Given the description of an element on the screen output the (x, y) to click on. 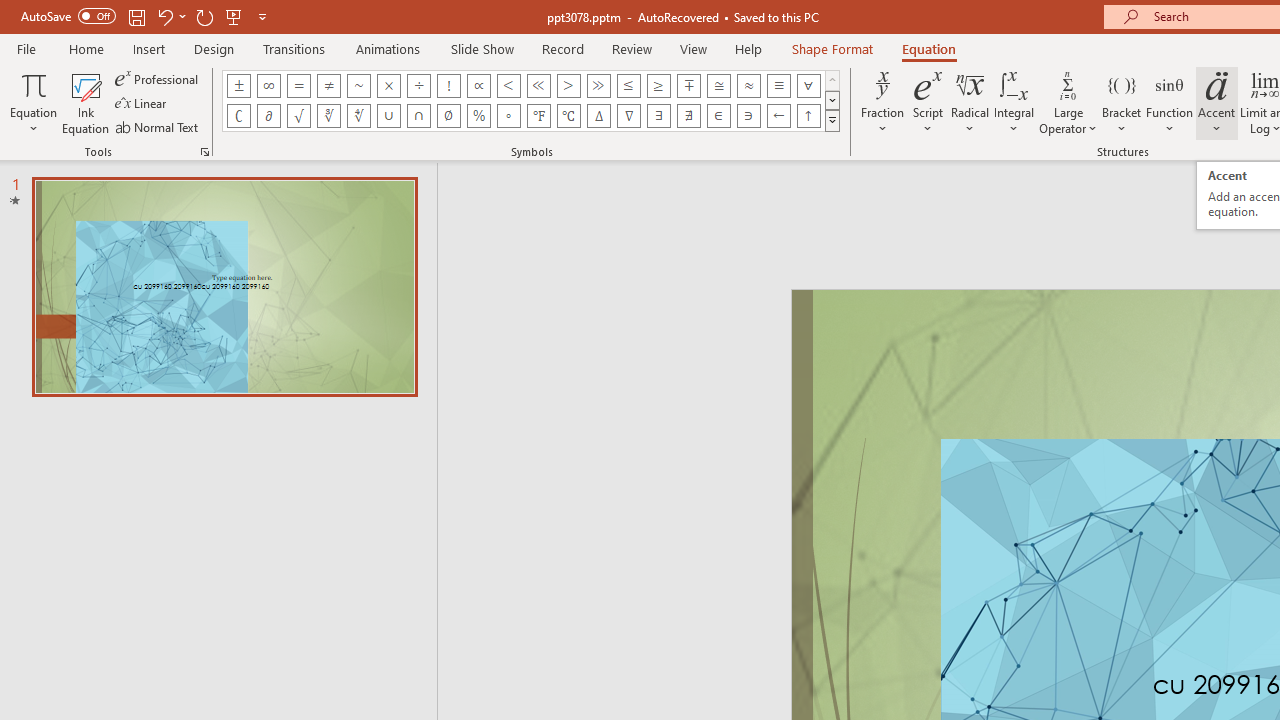
Equation Symbol Up Arrow (808, 115)
AutomationID: EquationSymbolsInsertGallery (532, 100)
Equation Symbol Infinity (268, 85)
Equation Symbol Identical To (778, 85)
Equation Symbol Intersection (418, 115)
Equation Symbol Complement (238, 115)
Equation Symbol Radical Sign (298, 115)
Function (1169, 102)
Equation Symbol Cube Root (328, 115)
Equation Symbol Percentage (478, 115)
Equation Symbol Minus Plus (689, 85)
